Given the description of an element on the screen output the (x, y) to click on. 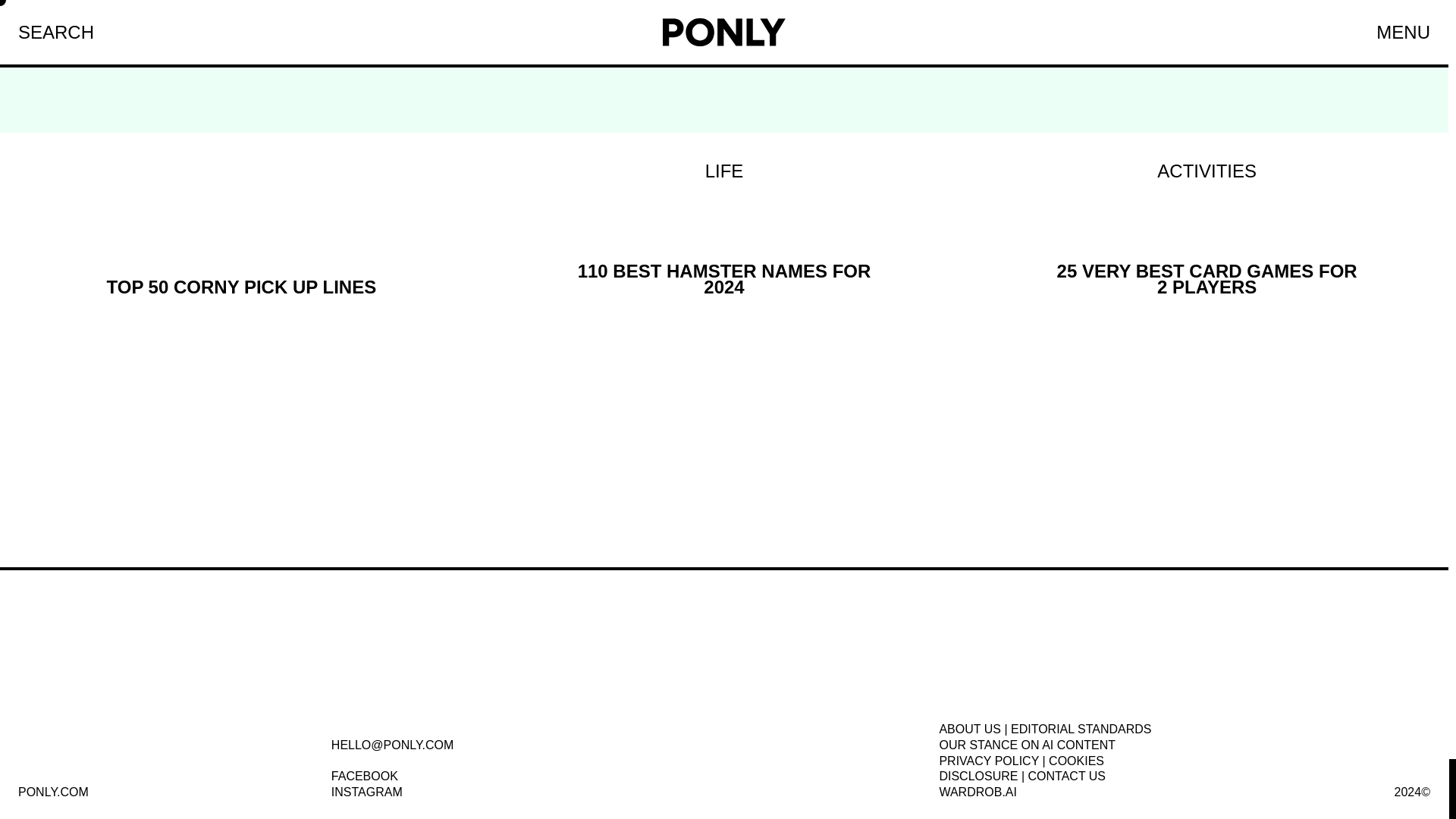
FACEBOOK (364, 775)
TOP 50 CORNY PICK UP LINES (724, 228)
INSTAGRAM (241, 228)
ABOUT US (367, 791)
EDITORIAL STANDARDS (970, 728)
